Given the description of an element on the screen output the (x, y) to click on. 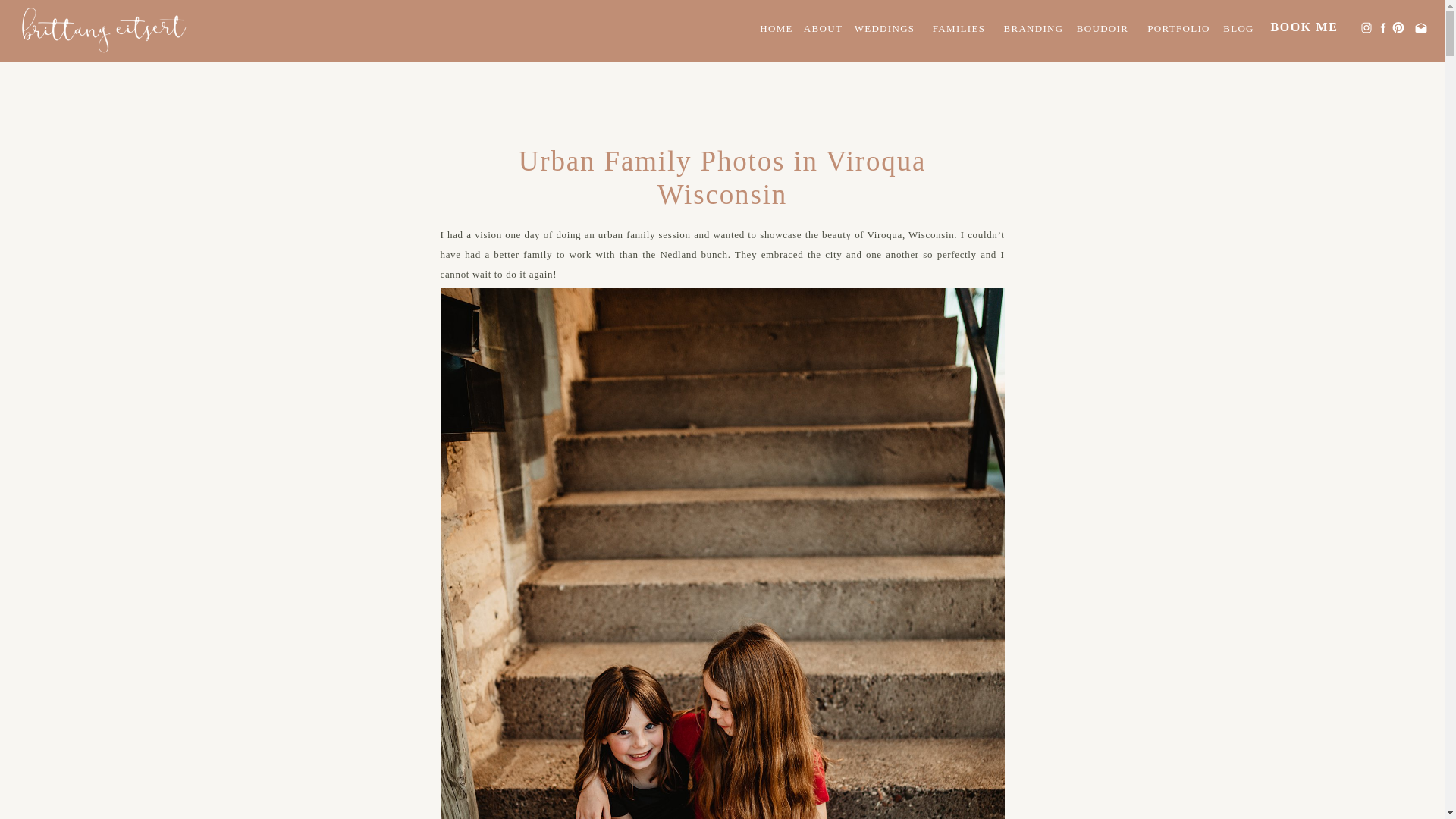
BOUDOIR (1102, 30)
FAMILIES (958, 30)
WEDDINGS (884, 30)
BOOK ME (1304, 27)
HOME (775, 30)
PORTFOLIO (1178, 30)
BLOG (1238, 30)
BRANDING (1033, 30)
ABOUT (823, 30)
